Given the description of an element on the screen output the (x, y) to click on. 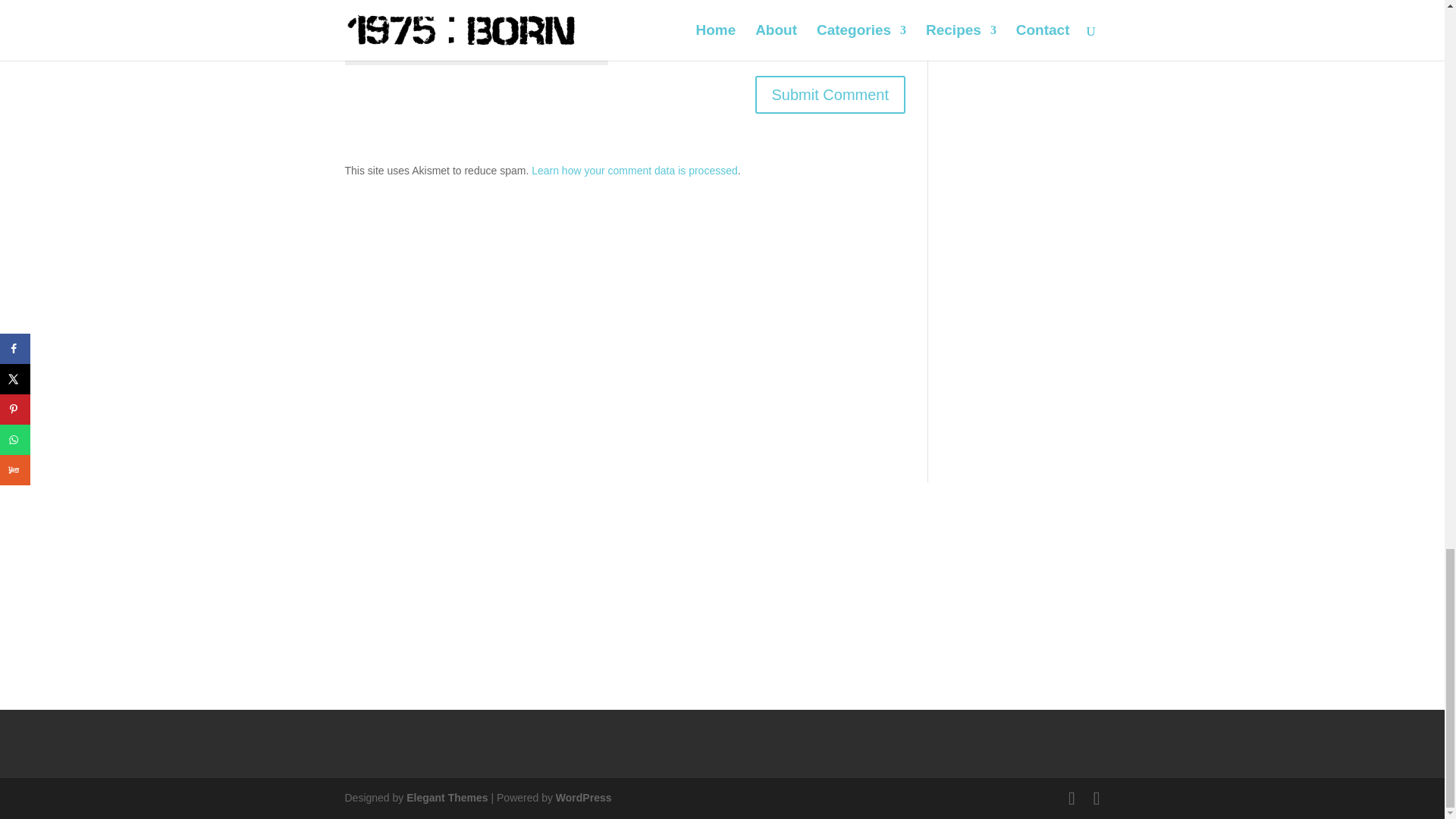
Submit Comment (830, 94)
Premium WordPress Themes (446, 797)
